Given the description of an element on the screen output the (x, y) to click on. 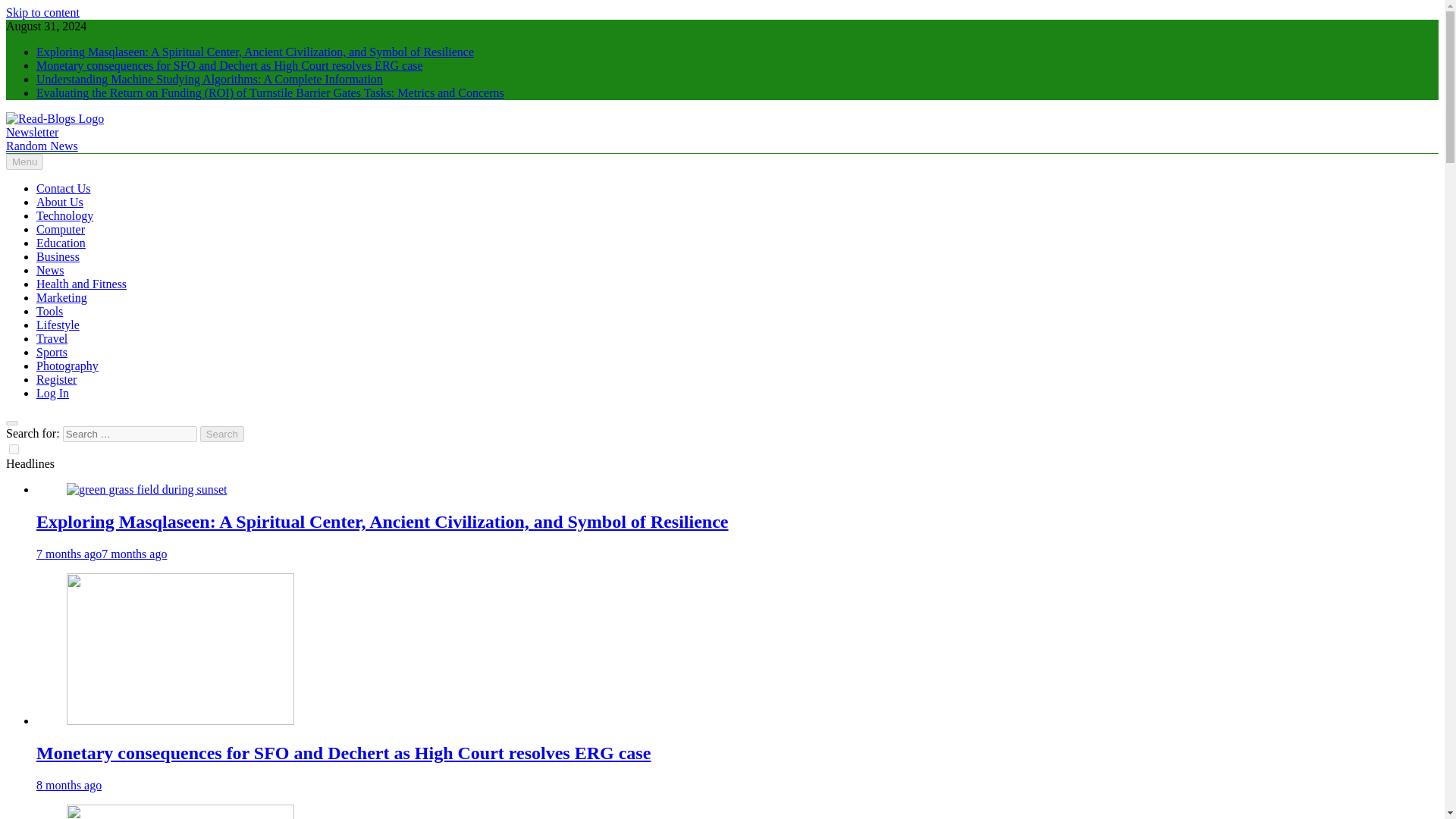
on (13, 449)
Search (222, 433)
Search (222, 433)
Search (222, 433)
Education (60, 242)
Log In (52, 392)
Business (58, 256)
Menu (24, 161)
